Given the description of an element on the screen output the (x, y) to click on. 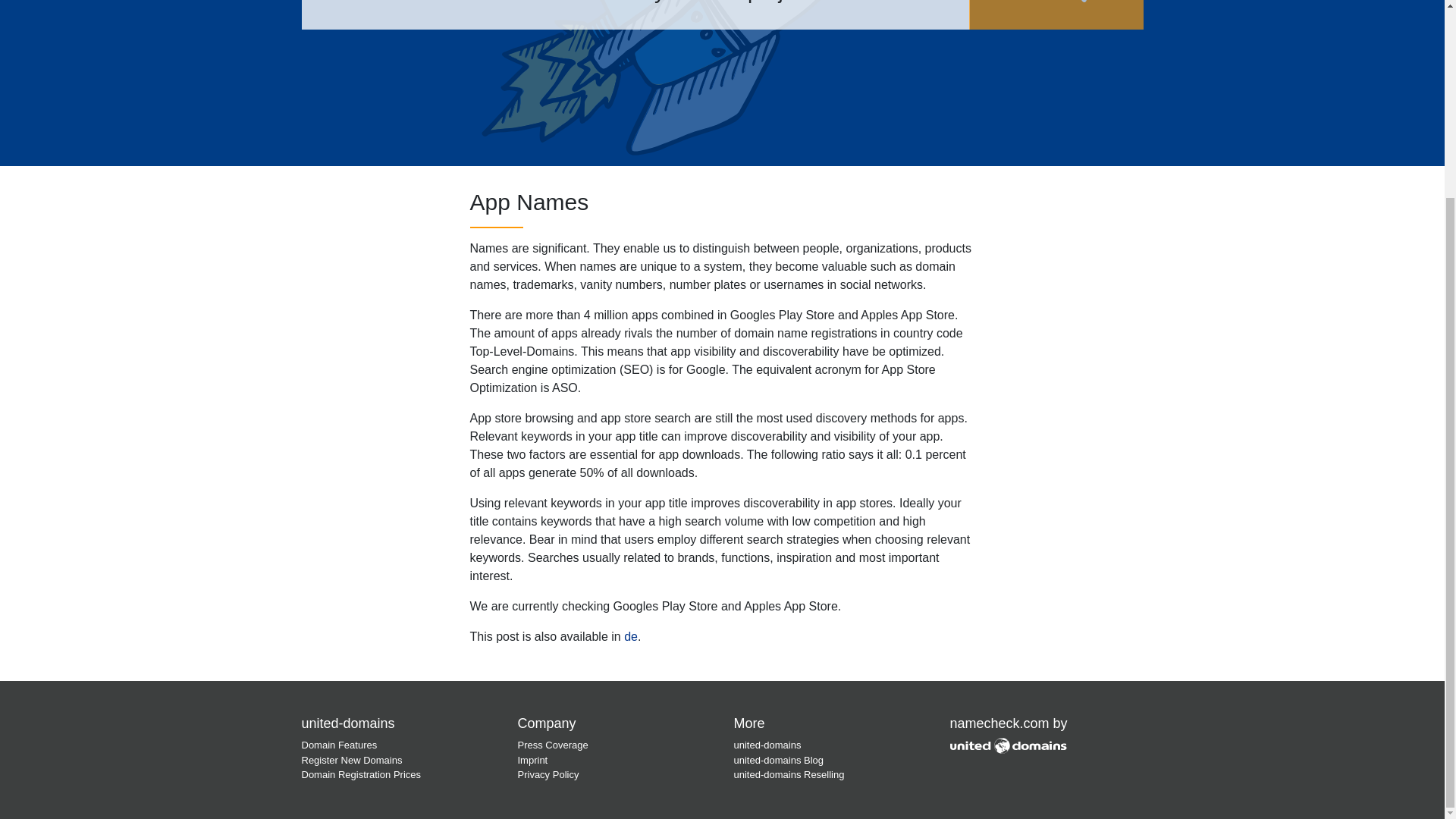
Privacy Policy (547, 774)
Check (1055, 14)
Domain Features (339, 745)
Register New Domains (352, 759)
Domain Registration Prices (361, 774)
Press Coverage (552, 745)
united-domains (767, 745)
de (630, 635)
Imprint (531, 759)
united-domains Blog (778, 759)
de (630, 635)
united-domains Reselling (788, 774)
